Given the description of an element on the screen output the (x, y) to click on. 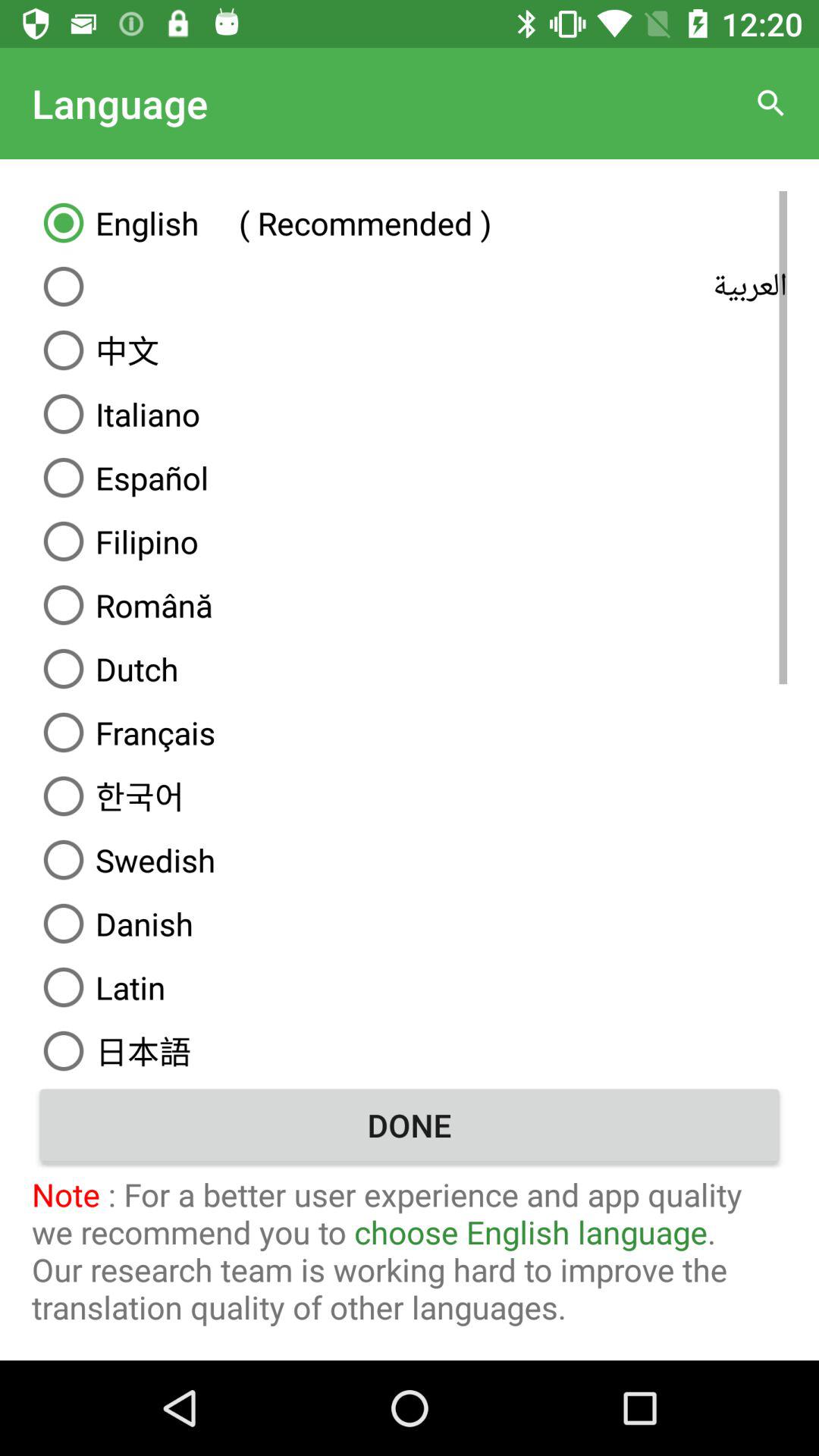
launch done icon (409, 1124)
